Given the description of an element on the screen output the (x, y) to click on. 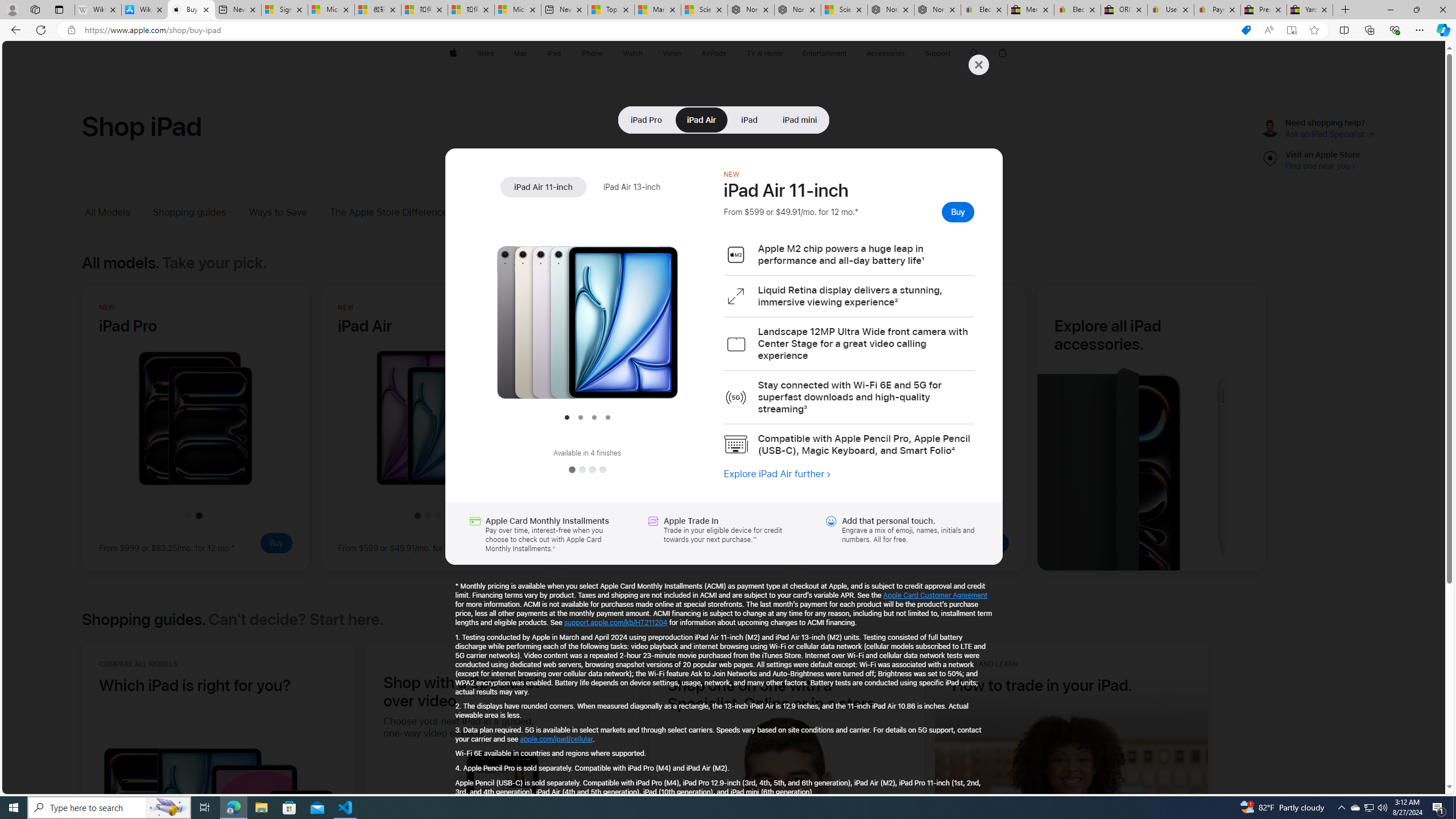
Payments Terms of Use | eBay.com (1216, 9)
iPad Air 13-inch (631, 186)
Starlight (601, 469)
Space Gray (571, 469)
support.apple.com/kb/HT211204 (Opens in a new window) (615, 622)
iPad mini (799, 119)
Nordace - FAQ (937, 9)
